Given the description of an element on the screen output the (x, y) to click on. 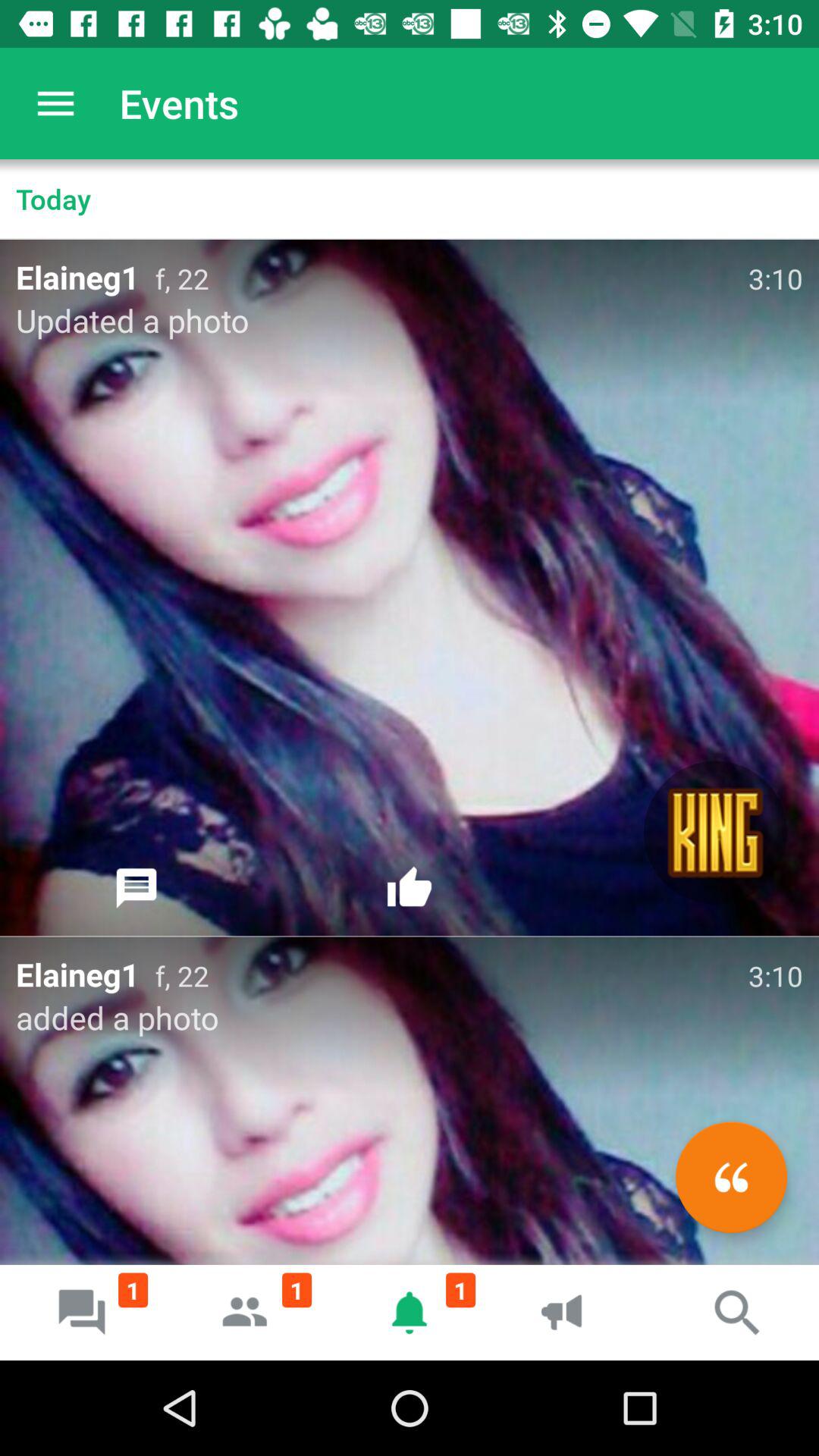
click app to the left of events (55, 103)
